Given the description of an element on the screen output the (x, y) to click on. 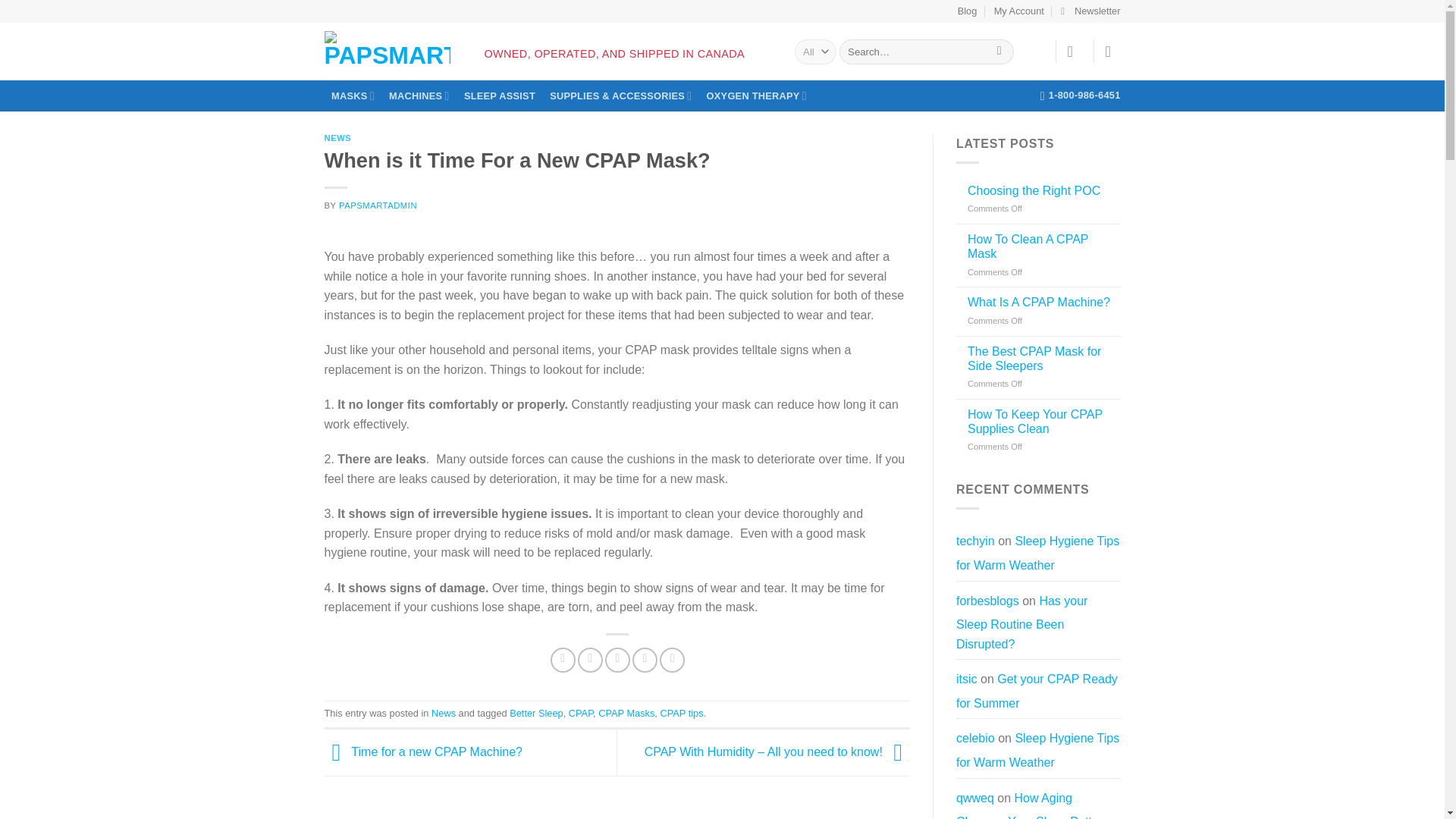
NEWS (338, 137)
Share on Facebook (562, 659)
Email to a Friend (617, 659)
Share on LinkedIn (671, 659)
PAPSmart Canada - Owned, operated, and shipped in Canada (386, 47)
1-800-986-6451 (1081, 95)
My Account (1018, 11)
MACHINES (419, 96)
PAPSMARTADMIN (377, 204)
SLEEP ASSIST (499, 96)
